Given the description of an element on the screen output the (x, y) to click on. 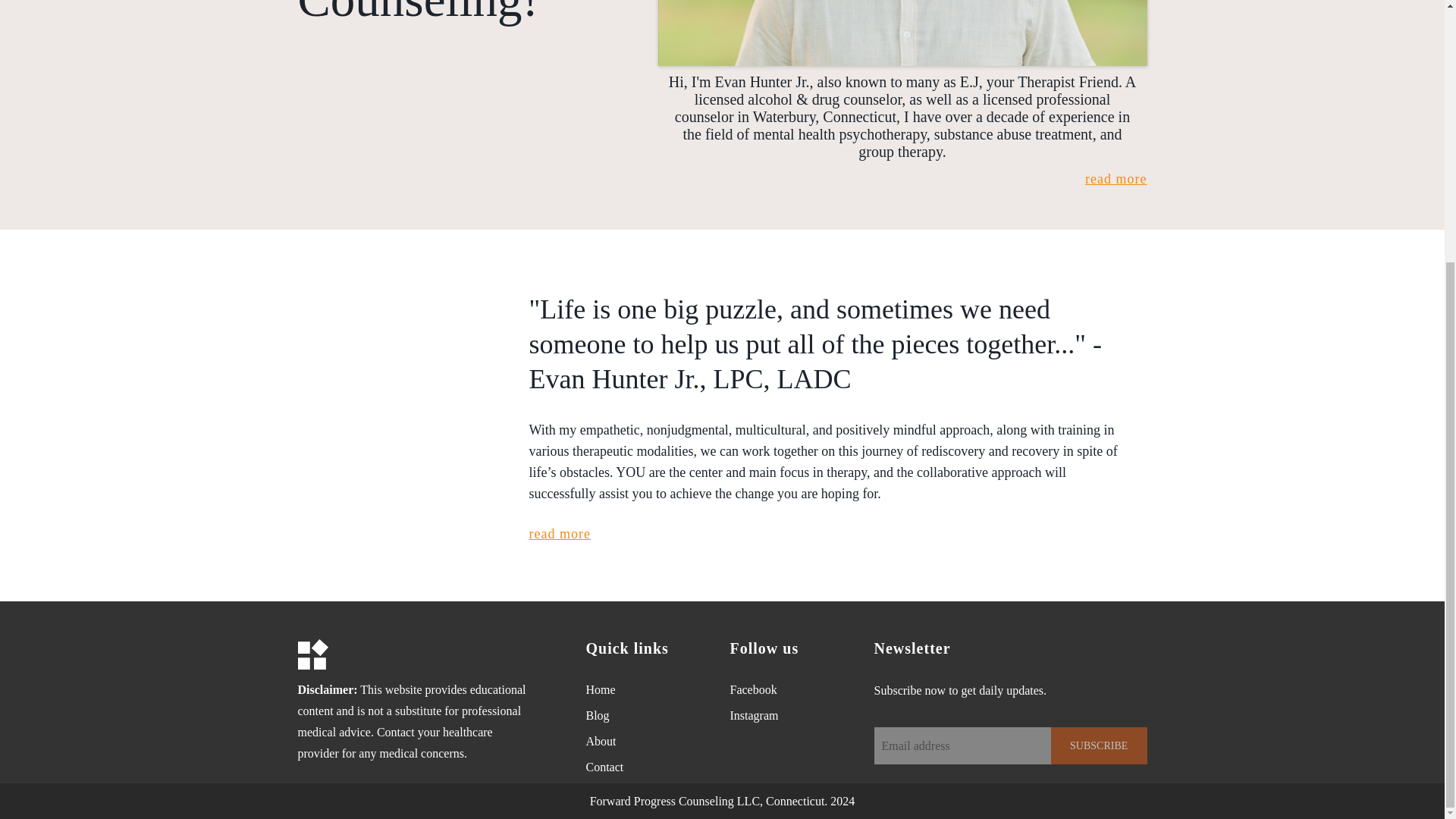
Facebook (752, 689)
Home (599, 689)
About (600, 740)
Instagram (753, 715)
Contact (604, 766)
Blog (596, 715)
SUBSCRIBE (1099, 745)
read more (1115, 178)
read more (560, 533)
